Given the description of an element on the screen output the (x, y) to click on. 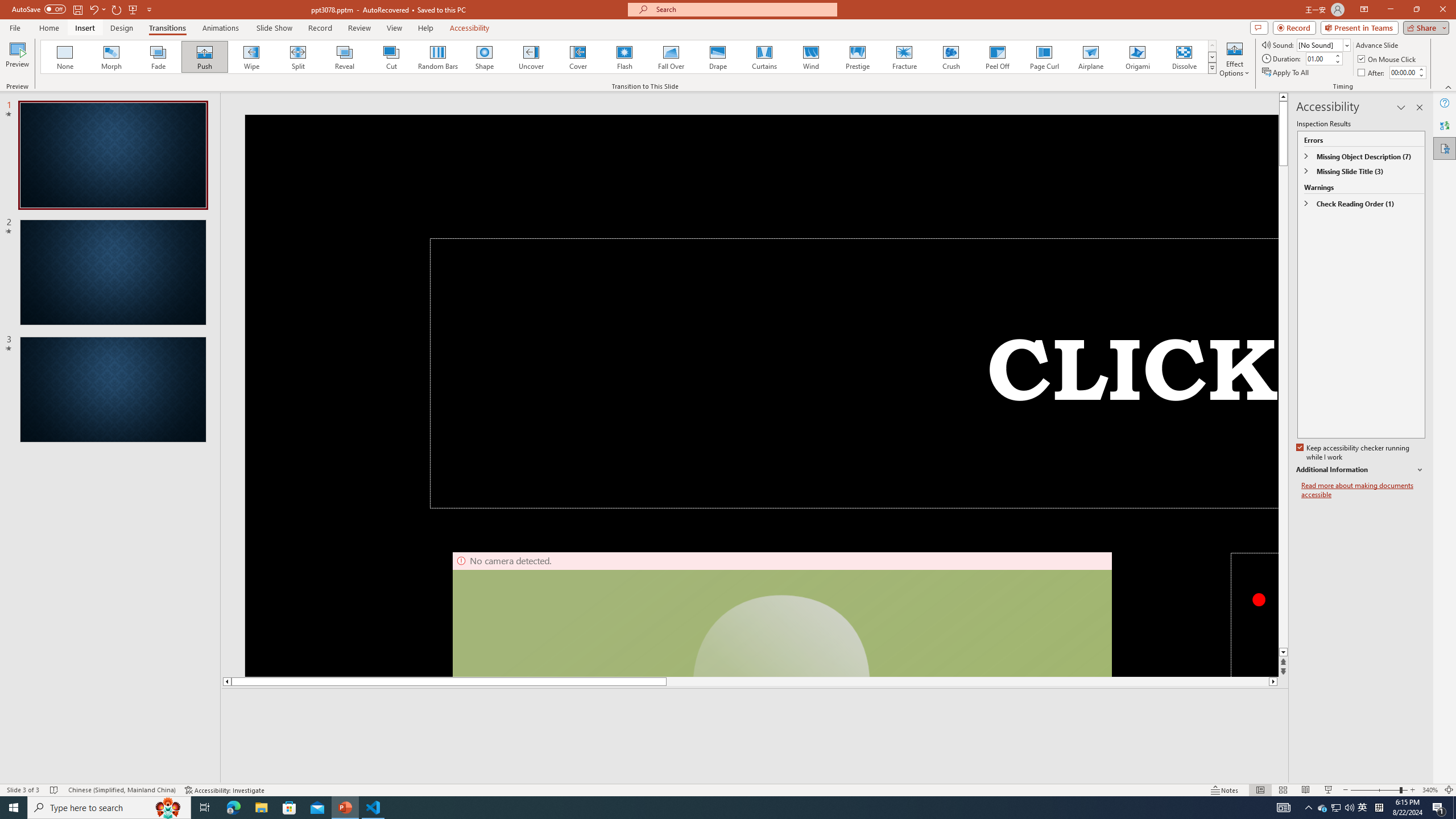
Split (298, 56)
Additional Information (1360, 469)
Crush (950, 56)
Less (1420, 75)
Uncover (531, 56)
Sound (1324, 44)
Morph (111, 56)
More (1420, 69)
